Given the description of an element on the screen output the (x, y) to click on. 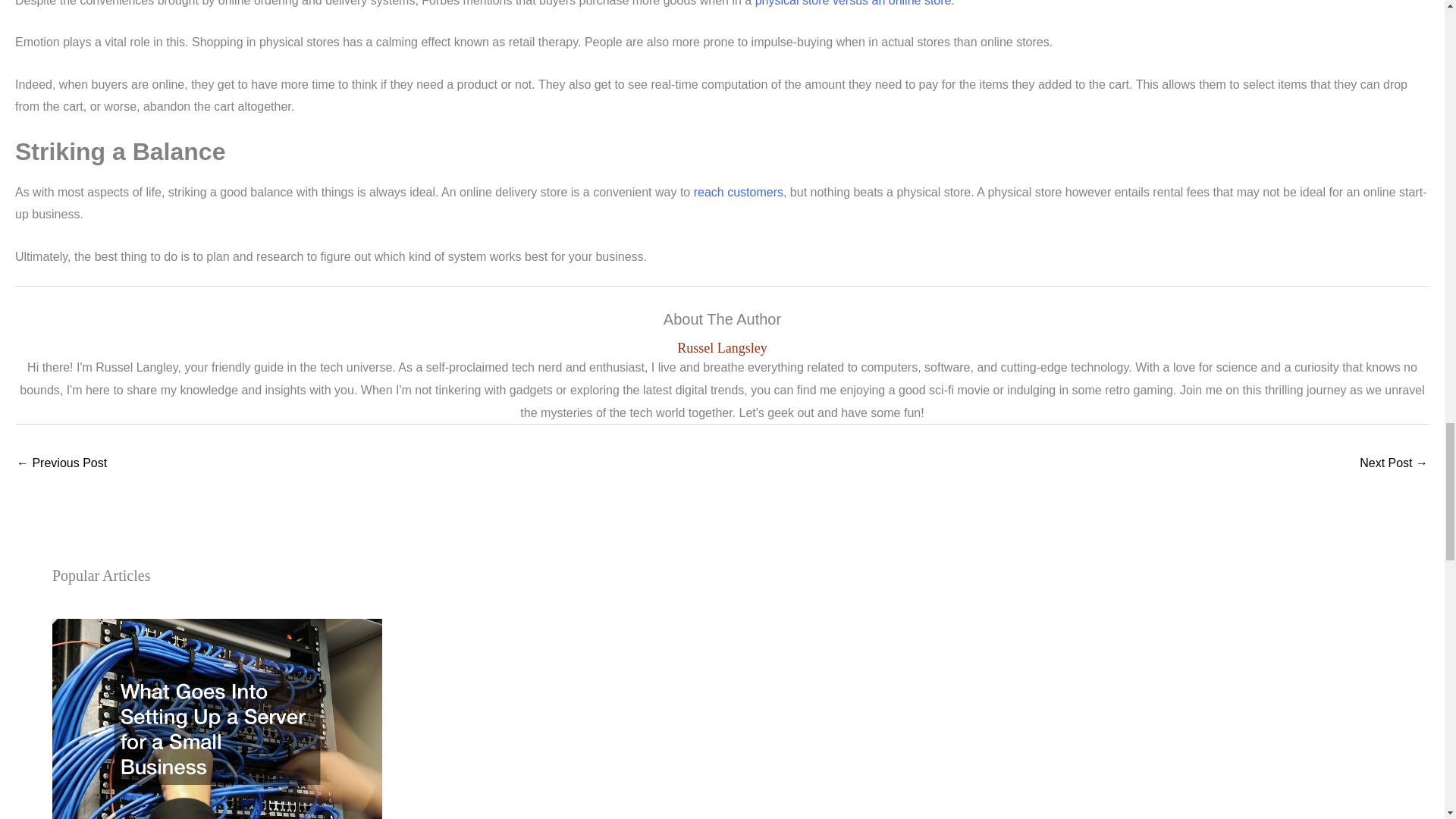
reach customers (738, 192)
physical store versus an online store (853, 3)
Using Technology to Increase Efficiency in Business (1393, 464)
How Self-Checkout Services Help Retain Customers (61, 464)
